Given the description of an element on the screen output the (x, y) to click on. 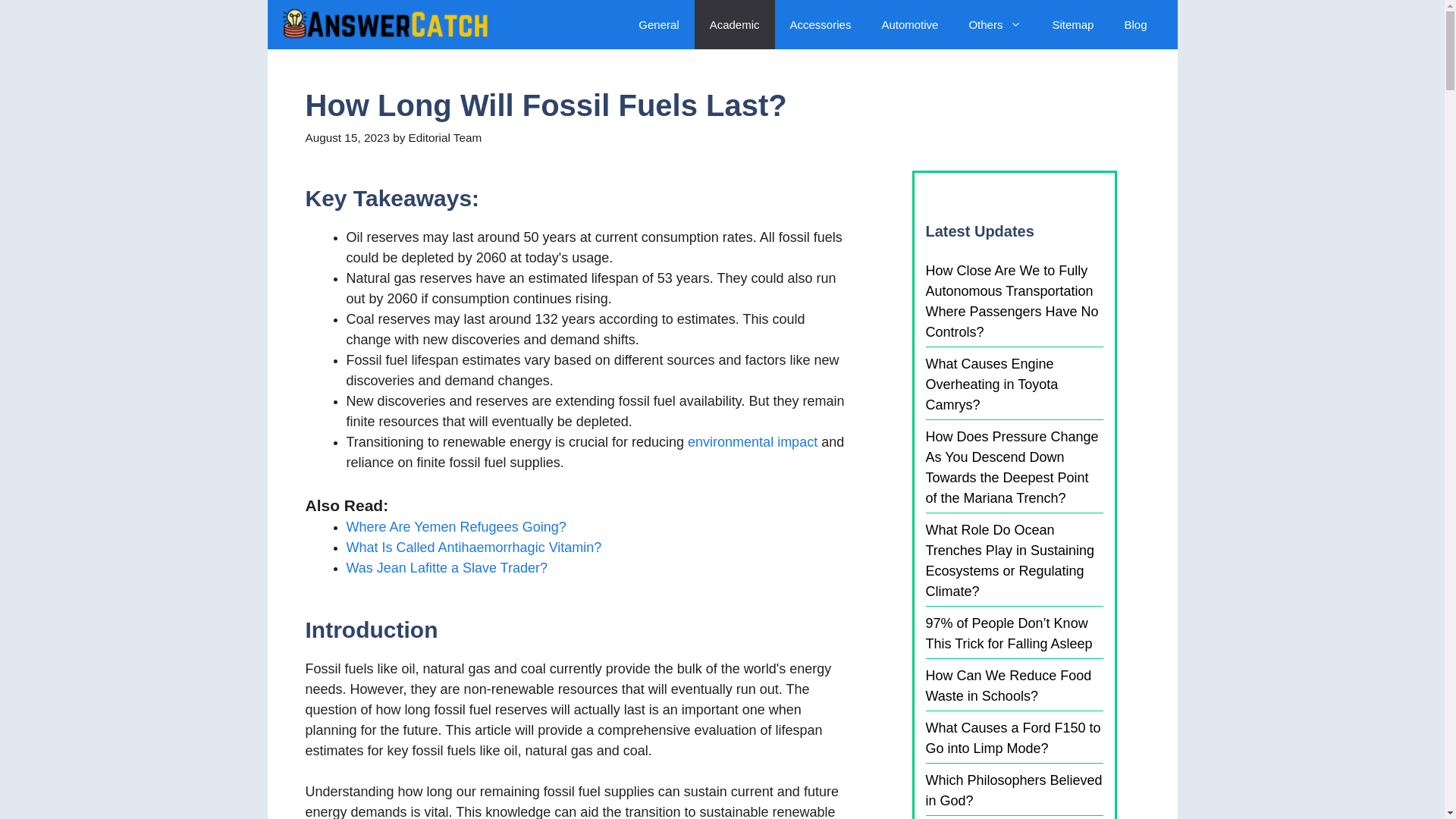
Blog (1134, 24)
Was Jean Lafitte a Slave Trader? (446, 567)
Where Are Yemen Refugees Going? (456, 526)
AnswerCatch (384, 24)
Posts tagged with environmental impact (751, 441)
Sitemap (1072, 24)
Accessories (820, 24)
Others (994, 24)
General (658, 24)
View all posts by Editorial Team (445, 137)
Editorial Team (445, 137)
What Is Called Antihaemorrhagic Vitamin? (473, 547)
Automotive (909, 24)
Academic (734, 24)
environmental impact (751, 441)
